Given the description of an element on the screen output the (x, y) to click on. 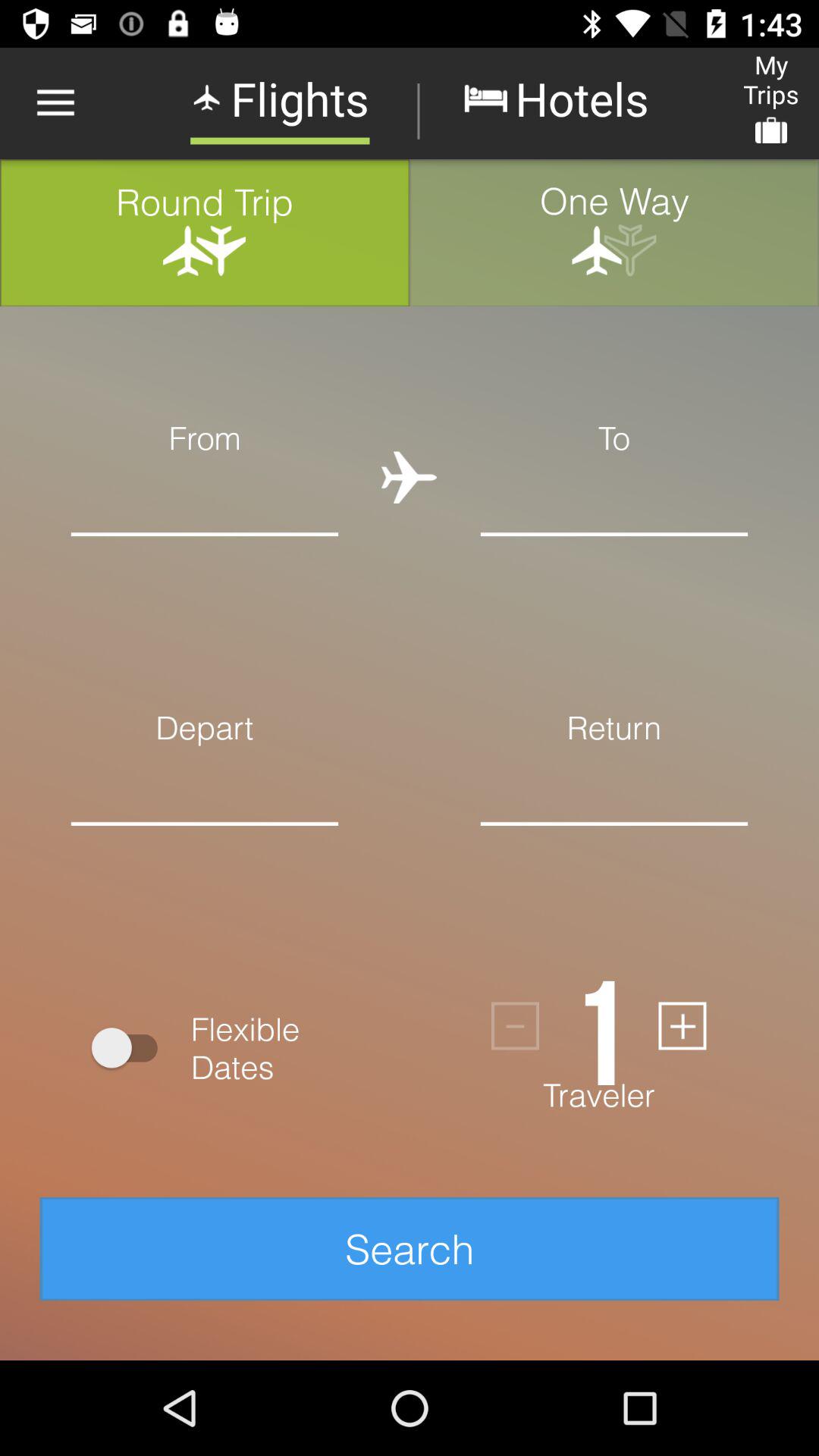
choose item below return (613, 785)
